Given the description of an element on the screen output the (x, y) to click on. 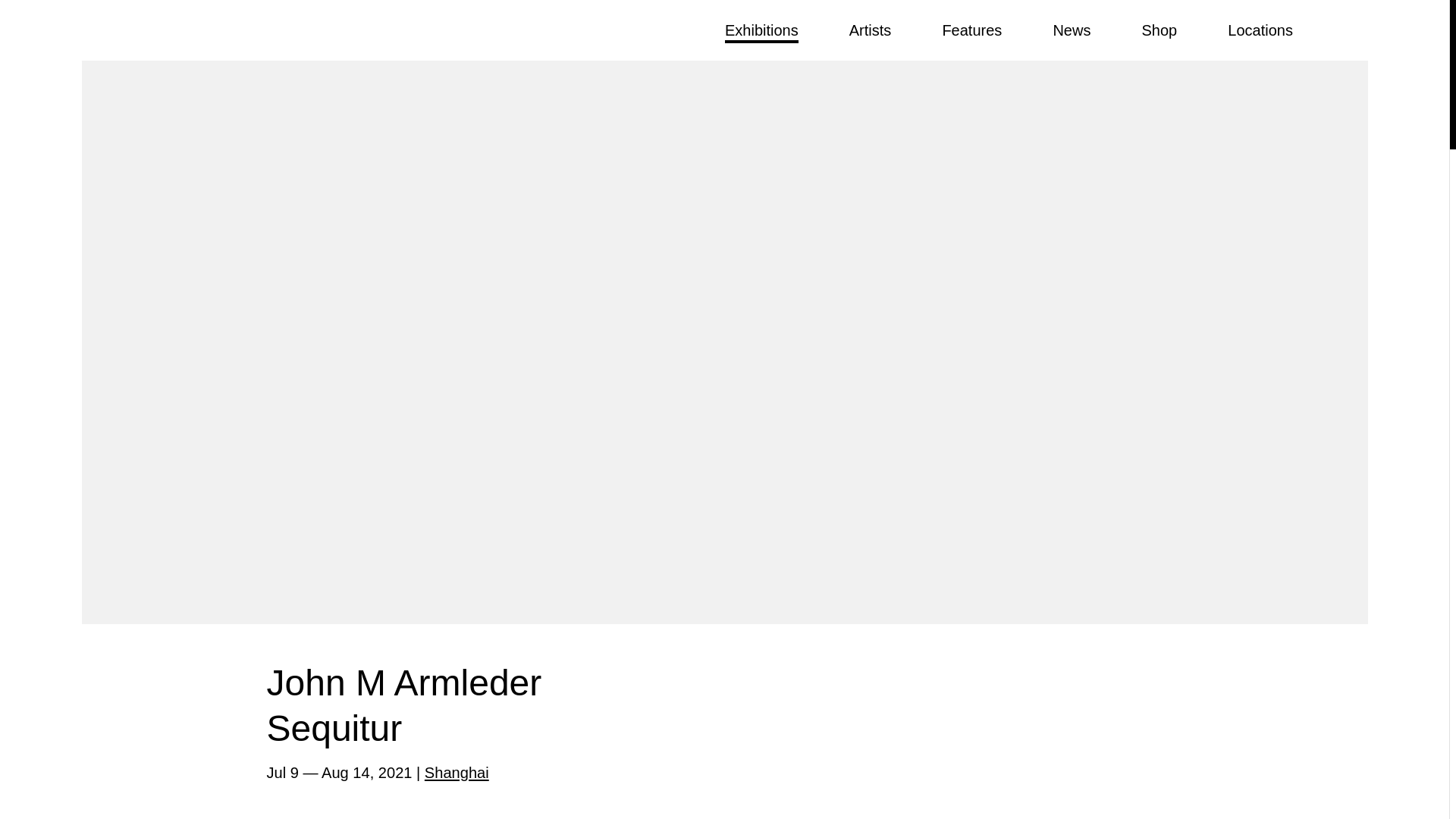
Features (971, 30)
Exhibitions (761, 31)
Artists (869, 30)
Almine Rech (162, 30)
Shanghai (457, 772)
News (1071, 30)
Locations (1259, 30)
